Given the description of an element on the screen output the (x, y) to click on. 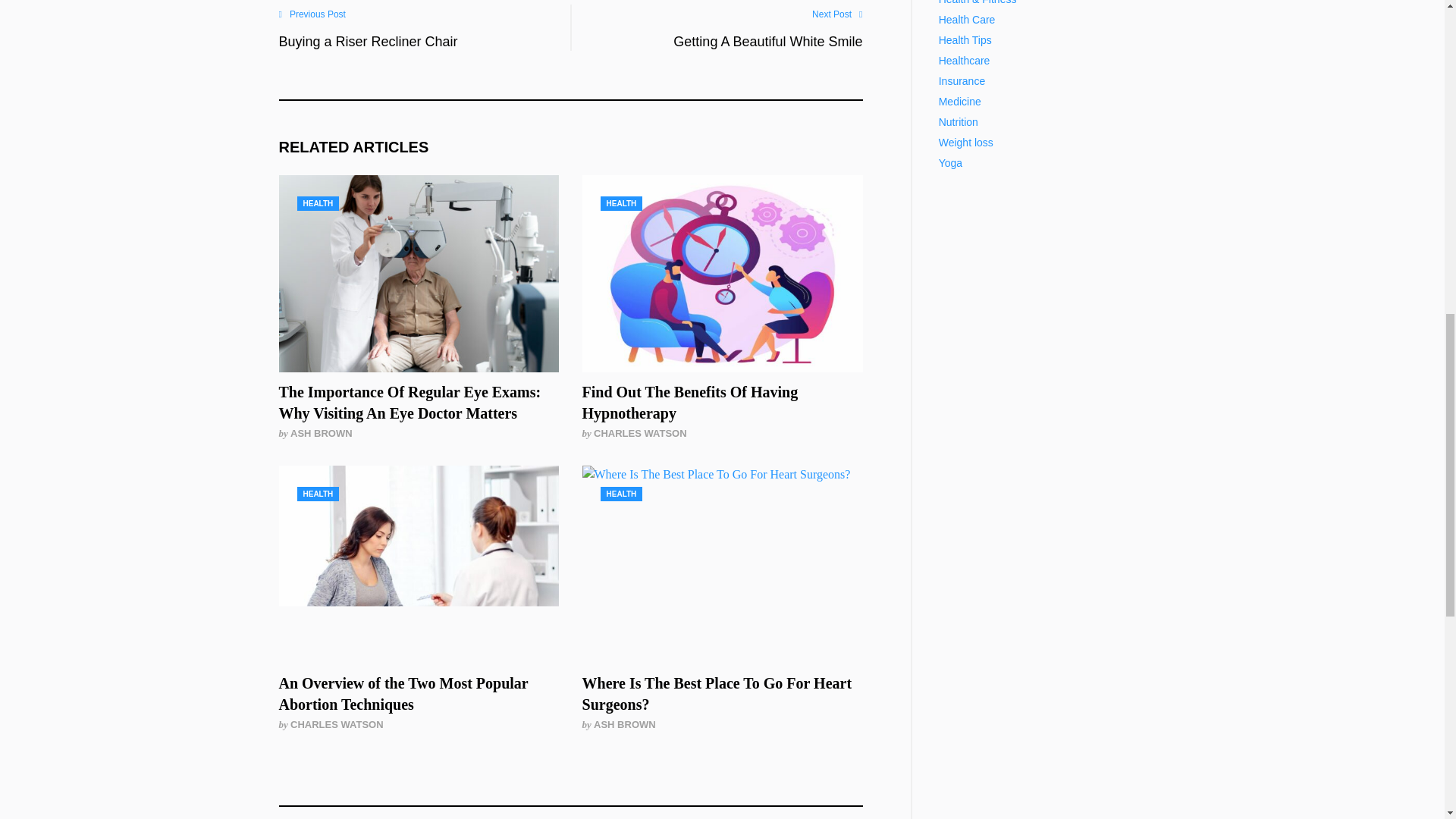
HEALTH (318, 203)
Getting A Beautiful White Smile (760, 41)
Buying a Riser Recliner Chair (381, 41)
HEALTH (621, 203)
ASH BROWN (320, 432)
